Given the description of an element on the screen output the (x, y) to click on. 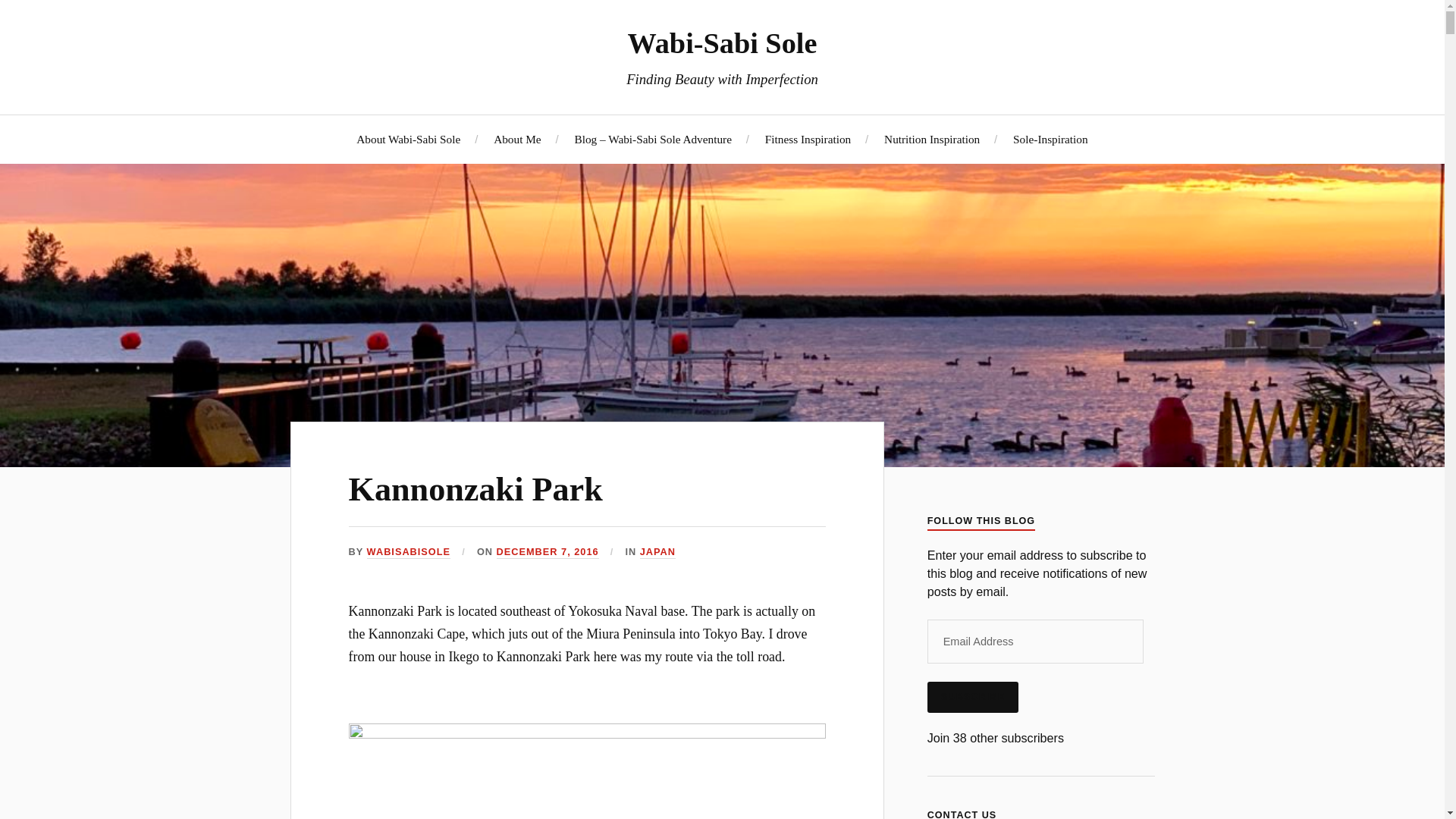
Posts by wabisabisole (407, 552)
Wabi-Sabi Sole (721, 42)
Kannonzaki Park (475, 488)
Fitness Inspiration (807, 138)
Nutrition Inspiration (931, 138)
Sole-Inspiration (1050, 138)
About Wabi-Sabi Sole (408, 138)
About Me (516, 138)
WABISABISOLE (407, 552)
JAPAN (657, 552)
DECEMBER 7, 2016 (547, 552)
